Given the description of an element on the screen output the (x, y) to click on. 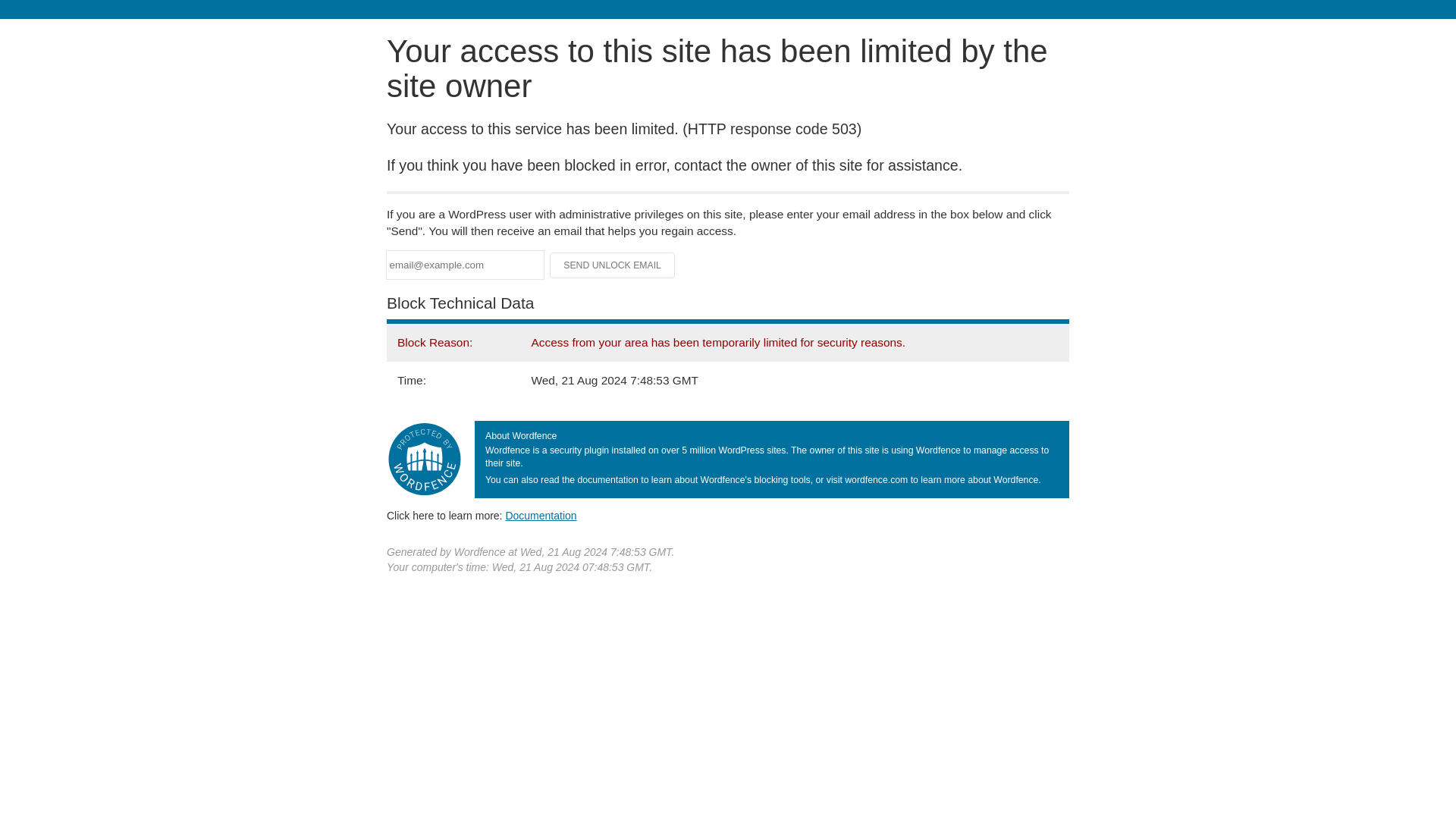
Documentation (540, 515)
Send Unlock Email (612, 265)
Send Unlock Email (612, 265)
